Given the description of an element on the screen output the (x, y) to click on. 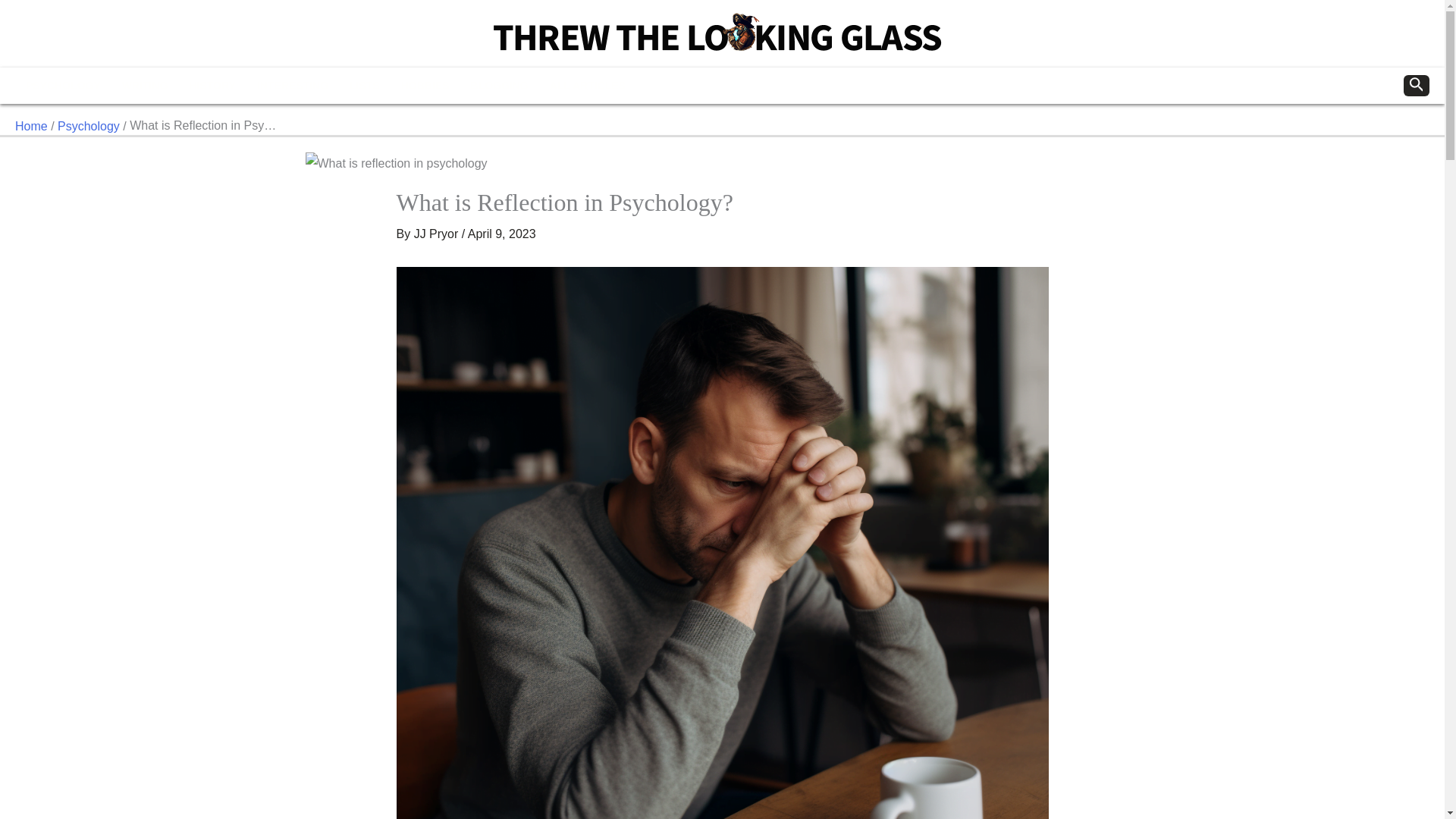
HISTORY (211, 85)
LISTS (364, 85)
Search (1416, 86)
View all posts by JJ Pryor (435, 233)
Home (31, 125)
BLOGGING (499, 85)
WRITING (145, 85)
Psychology (88, 125)
JJ Pryor (435, 233)
PSYCHOLOGY (63, 85)
